Given the description of an element on the screen output the (x, y) to click on. 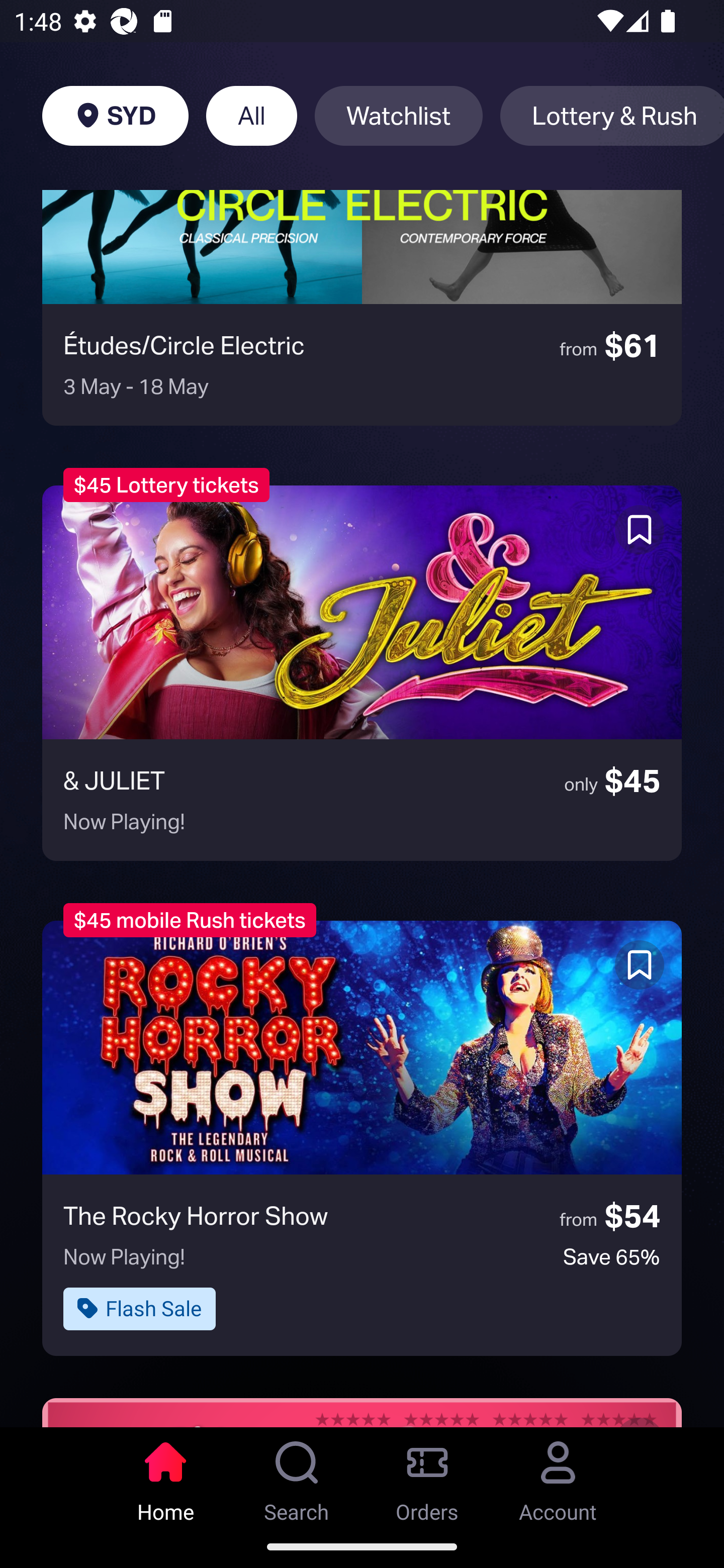
SYD (114, 115)
All (251, 115)
Watchlist (398, 115)
Lottery & Rush (612, 115)
Études/Circle Electric from $61 3 May - 18 May (361, 306)
& JULIET only $45 Now Playing! (361, 673)
Search (296, 1475)
Orders (427, 1475)
Account (558, 1475)
